Given the description of an element on the screen output the (x, y) to click on. 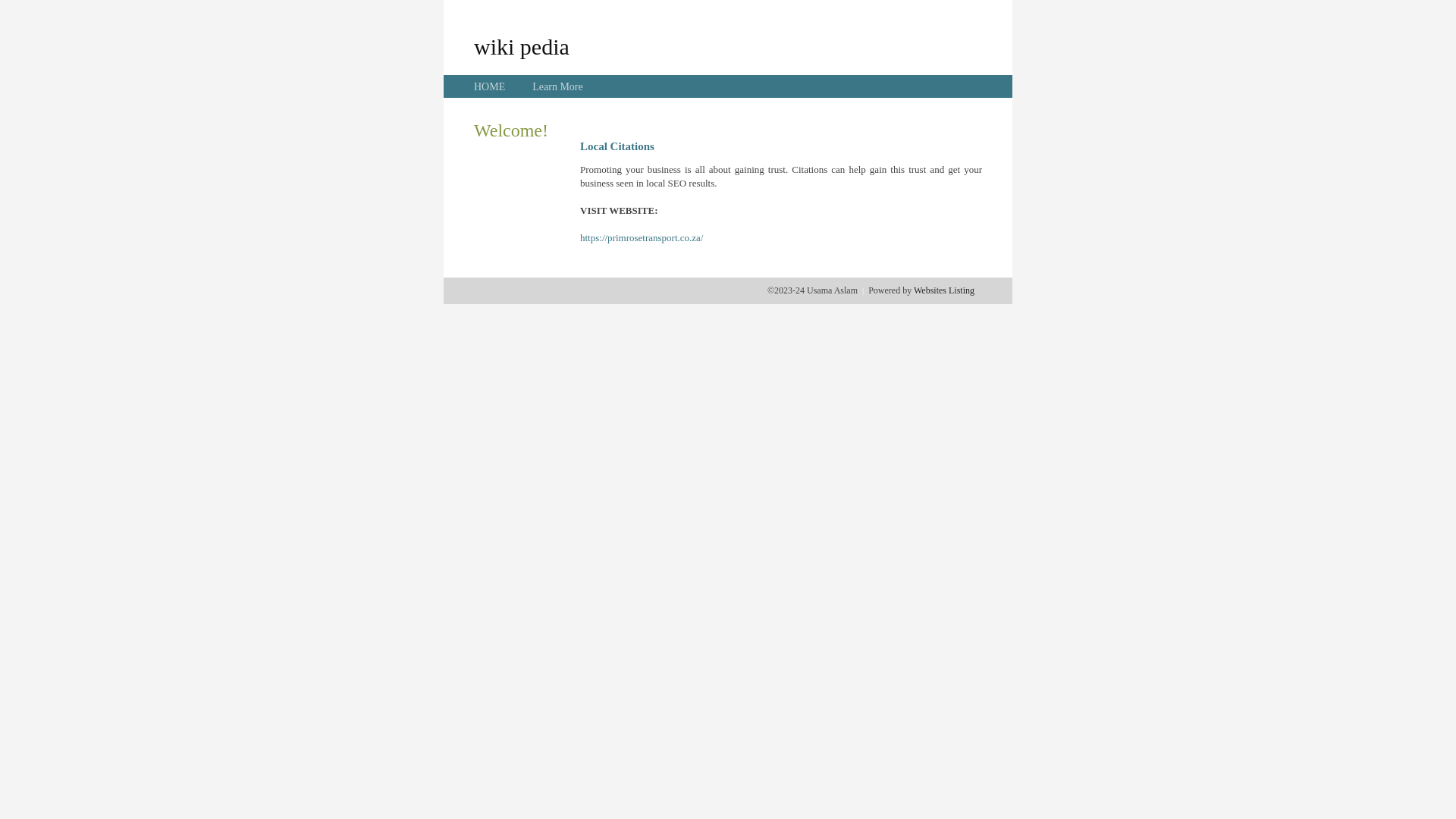
Websites Listing Element type: text (943, 290)
wiki pedia Element type: text (521, 46)
HOME Element type: text (489, 86)
https://primrosetransport.co.za/ Element type: text (641, 237)
Learn More Element type: text (557, 86)
